Given the description of an element on the screen output the (x, y) to click on. 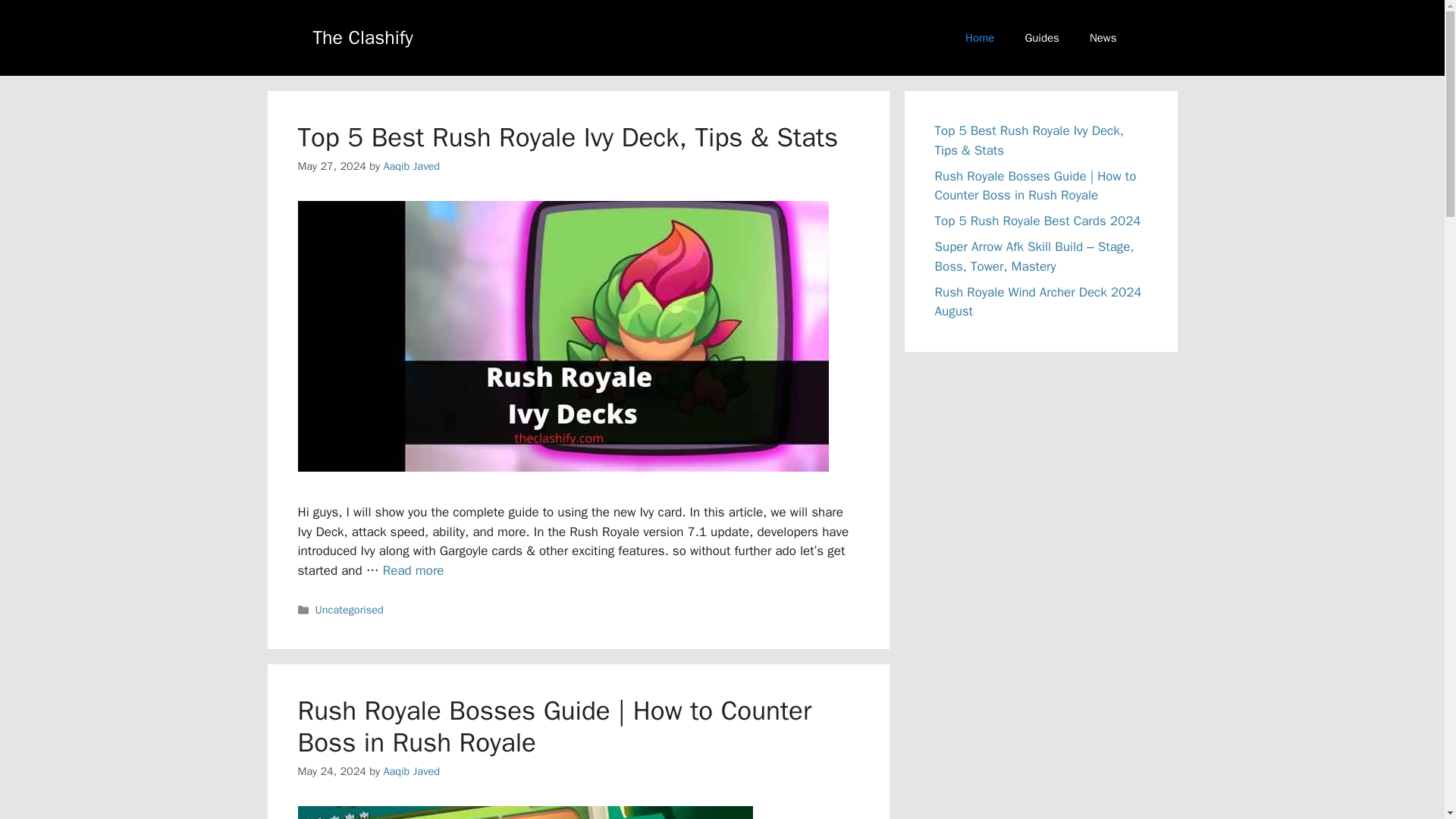
View all posts by Aaqib Javed (410, 165)
Read more (413, 570)
News (1103, 37)
Uncategorised (349, 609)
The Clashify (362, 37)
Home (979, 37)
View all posts by Aaqib Javed (410, 771)
Guides (1041, 37)
Aaqib Javed (410, 771)
Aaqib Javed (410, 165)
